Given the description of an element on the screen output the (x, y) to click on. 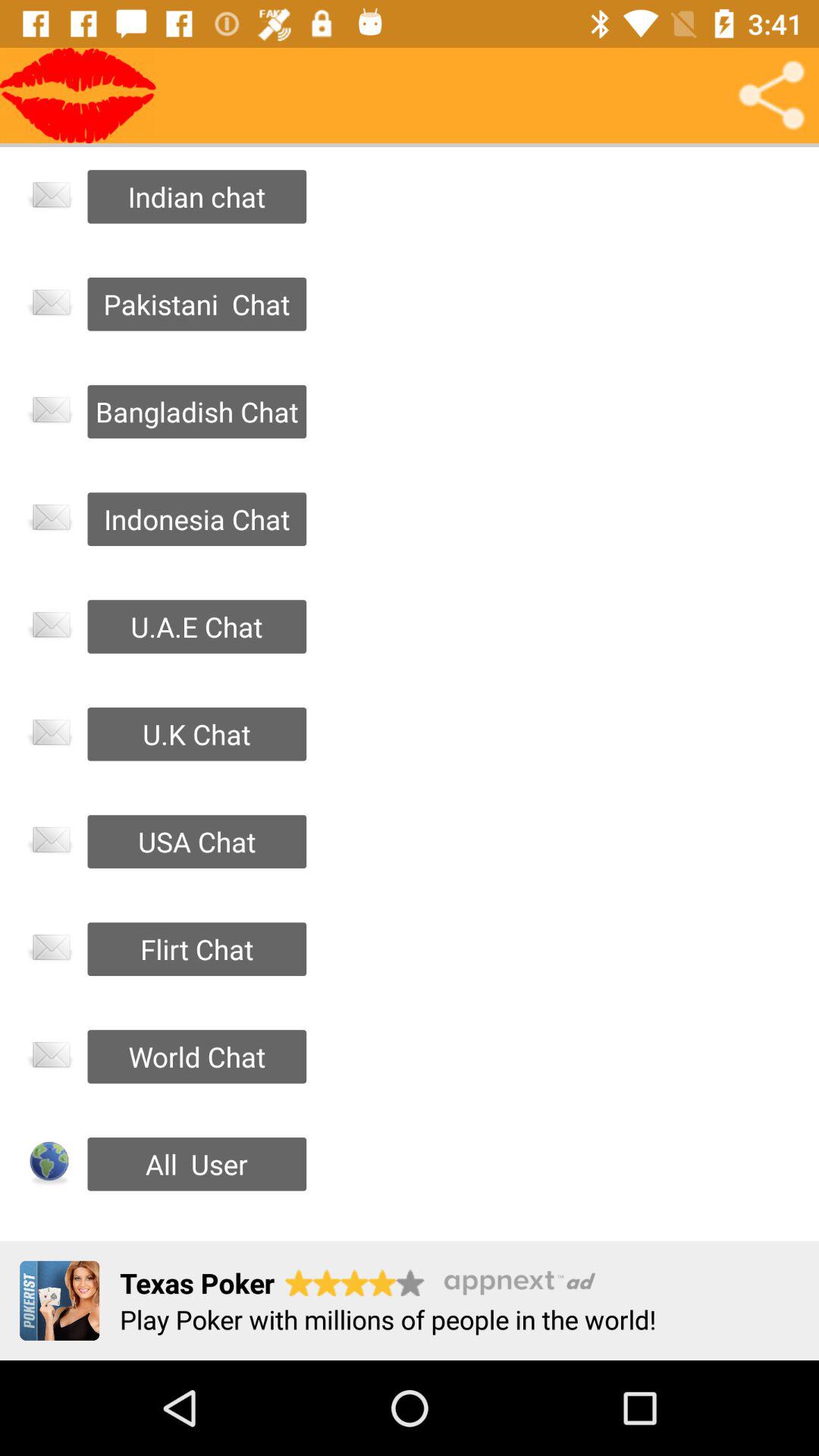
open share menu (771, 95)
